Given the description of an element on the screen output the (x, y) to click on. 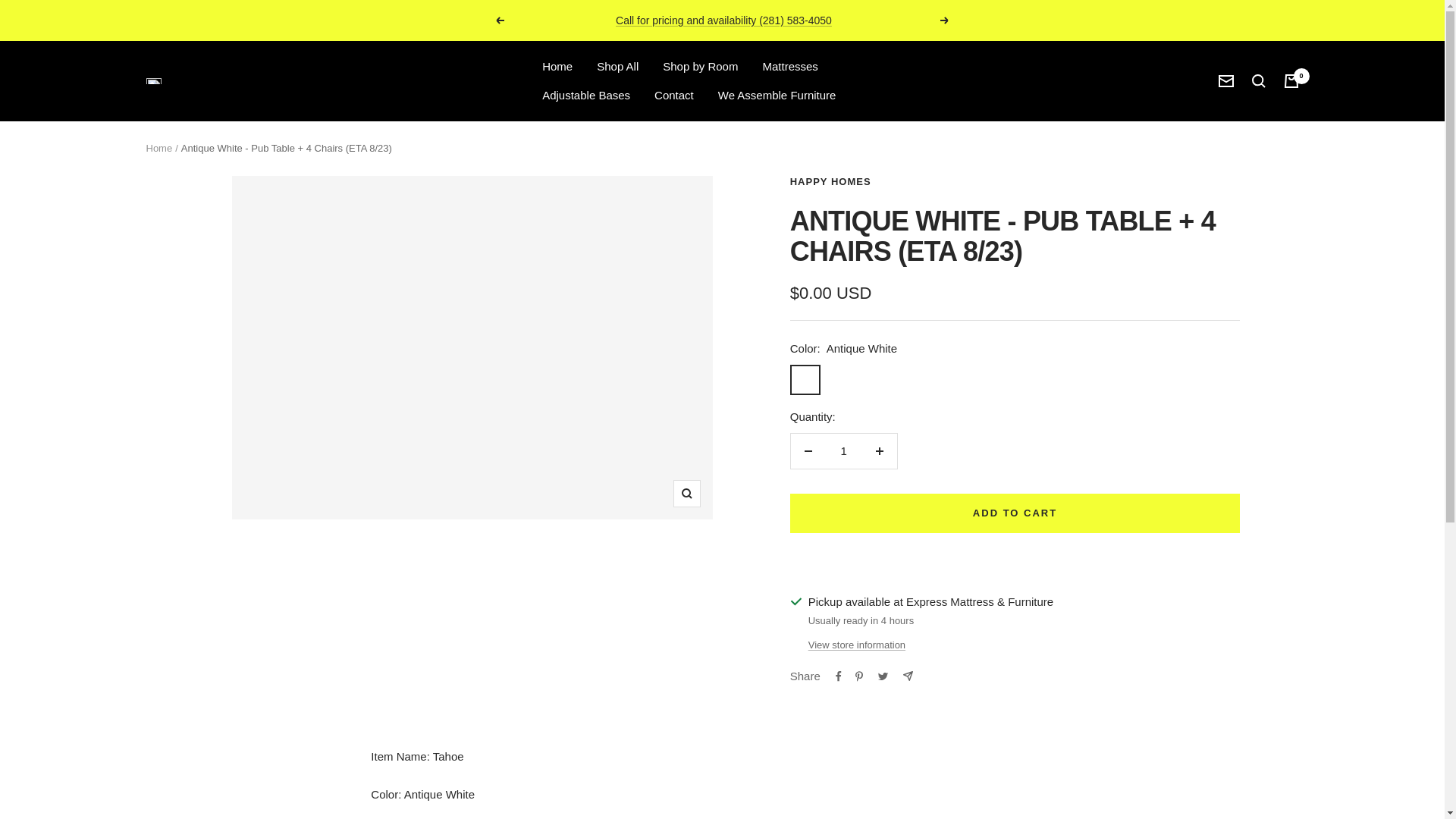
Home (556, 66)
Next (944, 20)
Previous (499, 20)
0 (1291, 80)
Mattresses (788, 66)
Zoom (686, 492)
View store information (856, 645)
HAPPY HOMES (830, 181)
Increase quantity (878, 451)
